Given the description of an element on the screen output the (x, y) to click on. 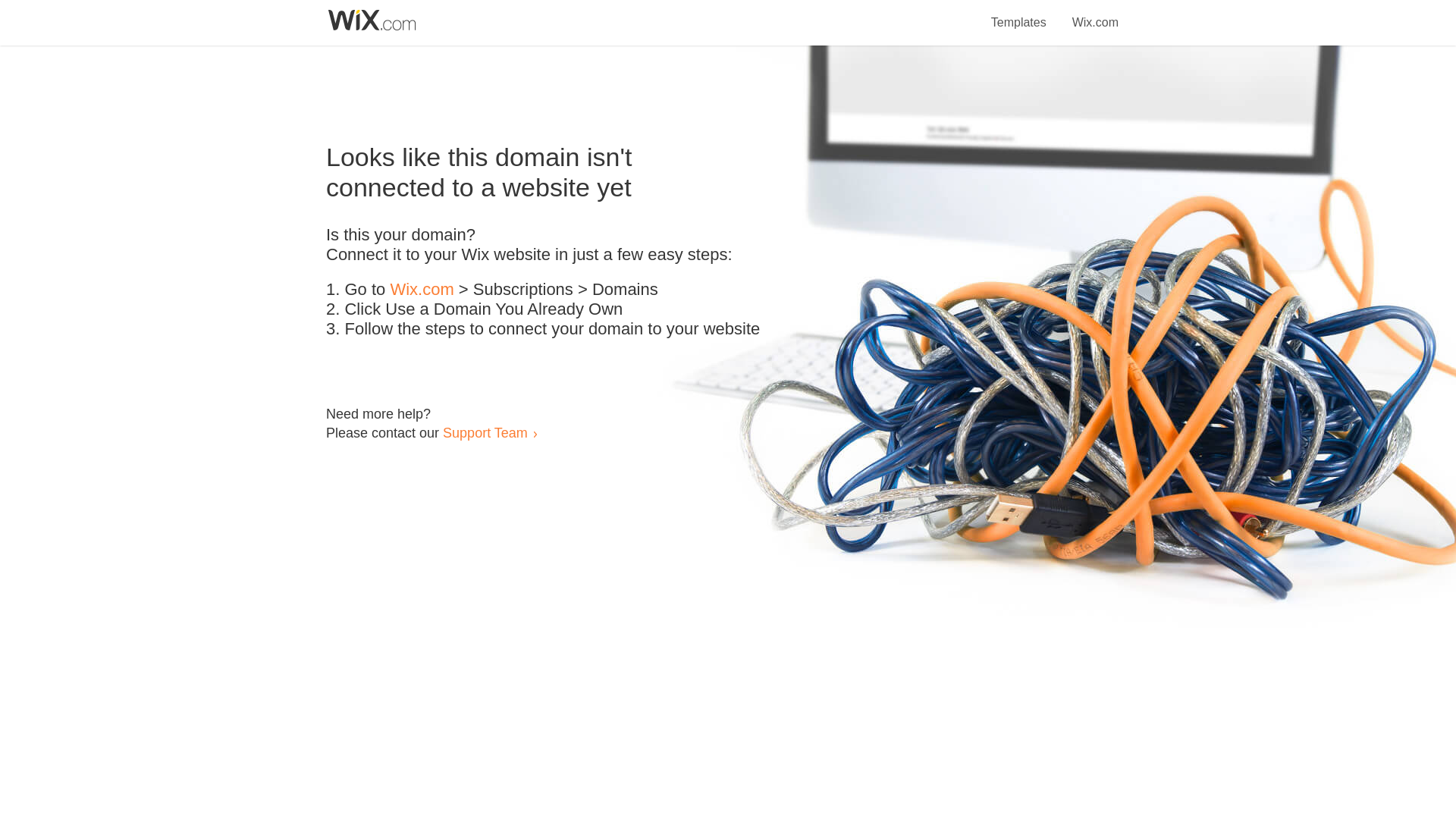
Wix.com (421, 289)
Support Team (484, 432)
Templates (1018, 14)
Wix.com (1095, 14)
